Given the description of an element on the screen output the (x, y) to click on. 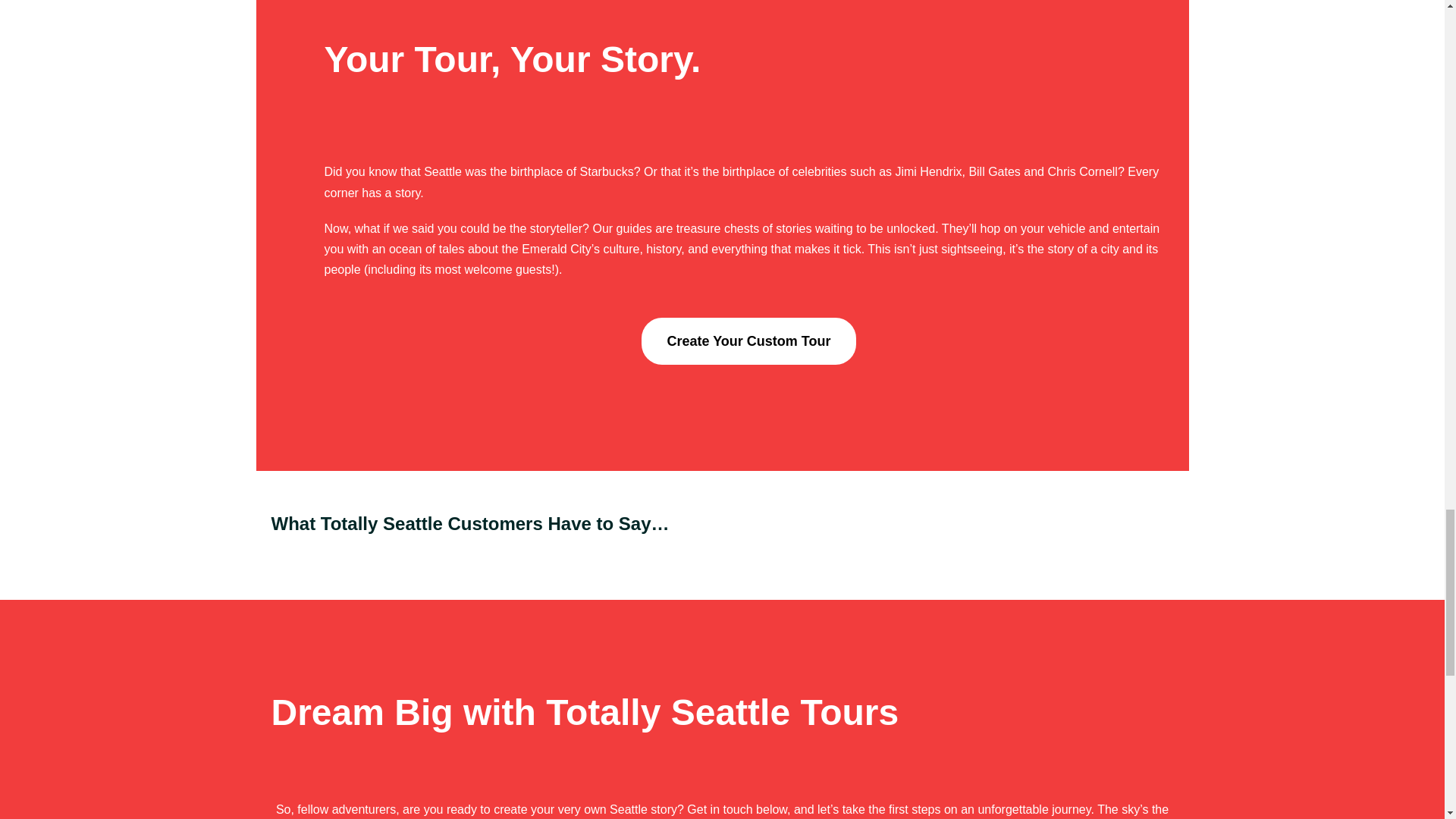
Create Your Custom Tour (749, 340)
